Given the description of an element on the screen output the (x, y) to click on. 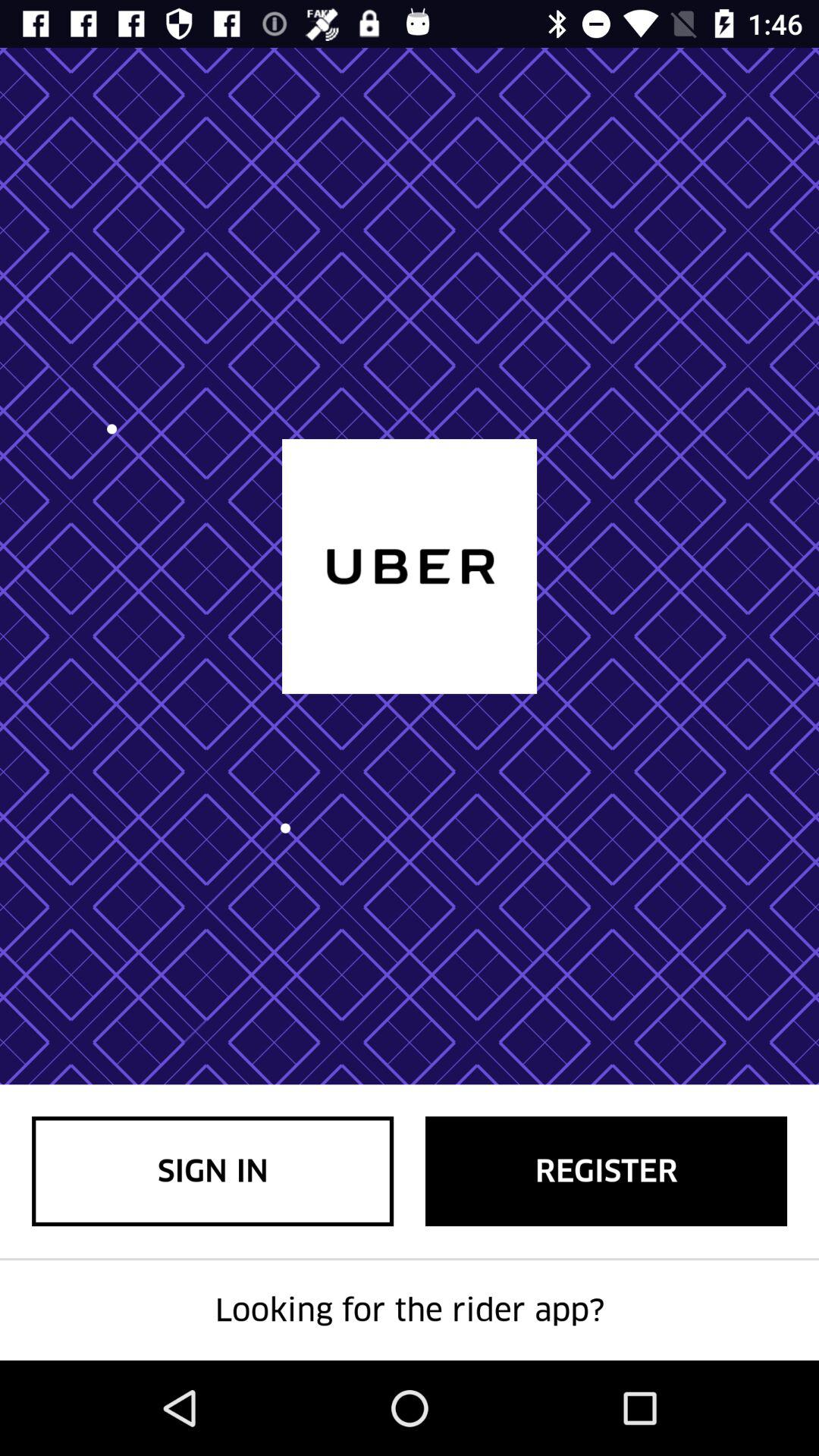
choose item next to register icon (212, 1171)
